Given the description of an element on the screen output the (x, y) to click on. 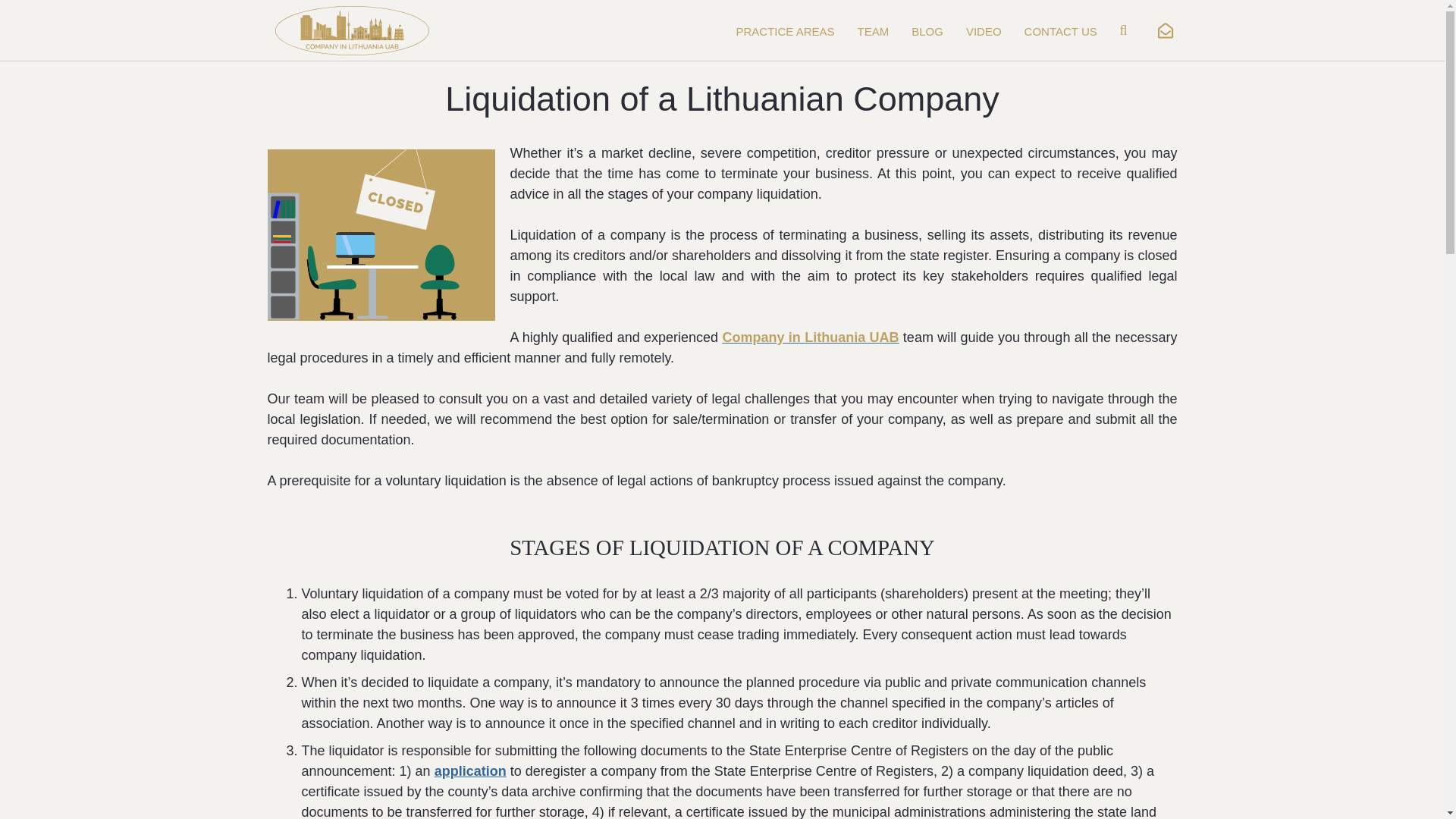
PRACTICE AREAS (785, 31)
Company in Lithuania UAB (810, 337)
CONTACT US (1060, 31)
VIDEO (984, 31)
Liquidation of a Lithuanian Company (380, 234)
TEAM (873, 31)
BLOG (927, 31)
application (469, 770)
